Given the description of an element on the screen output the (x, y) to click on. 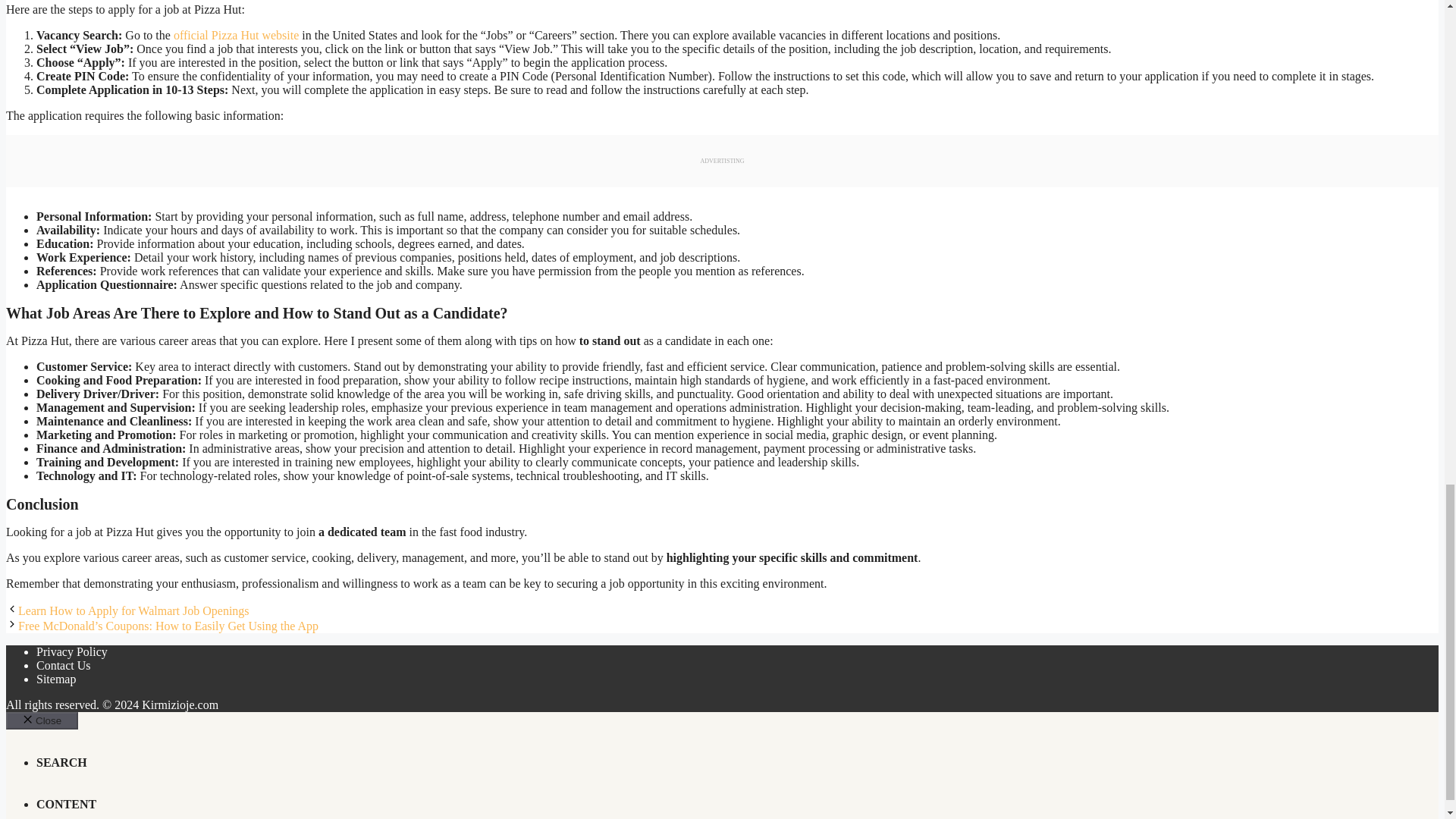
Close (41, 719)
Sitemap (55, 678)
Learn How to Apply for Walmart Job Openings (132, 610)
official Pizza Hut website (235, 34)
Privacy Policy (71, 651)
Contact Us (63, 665)
CONTENT (66, 803)
SEARCH (61, 762)
